Given the description of an element on the screen output the (x, y) to click on. 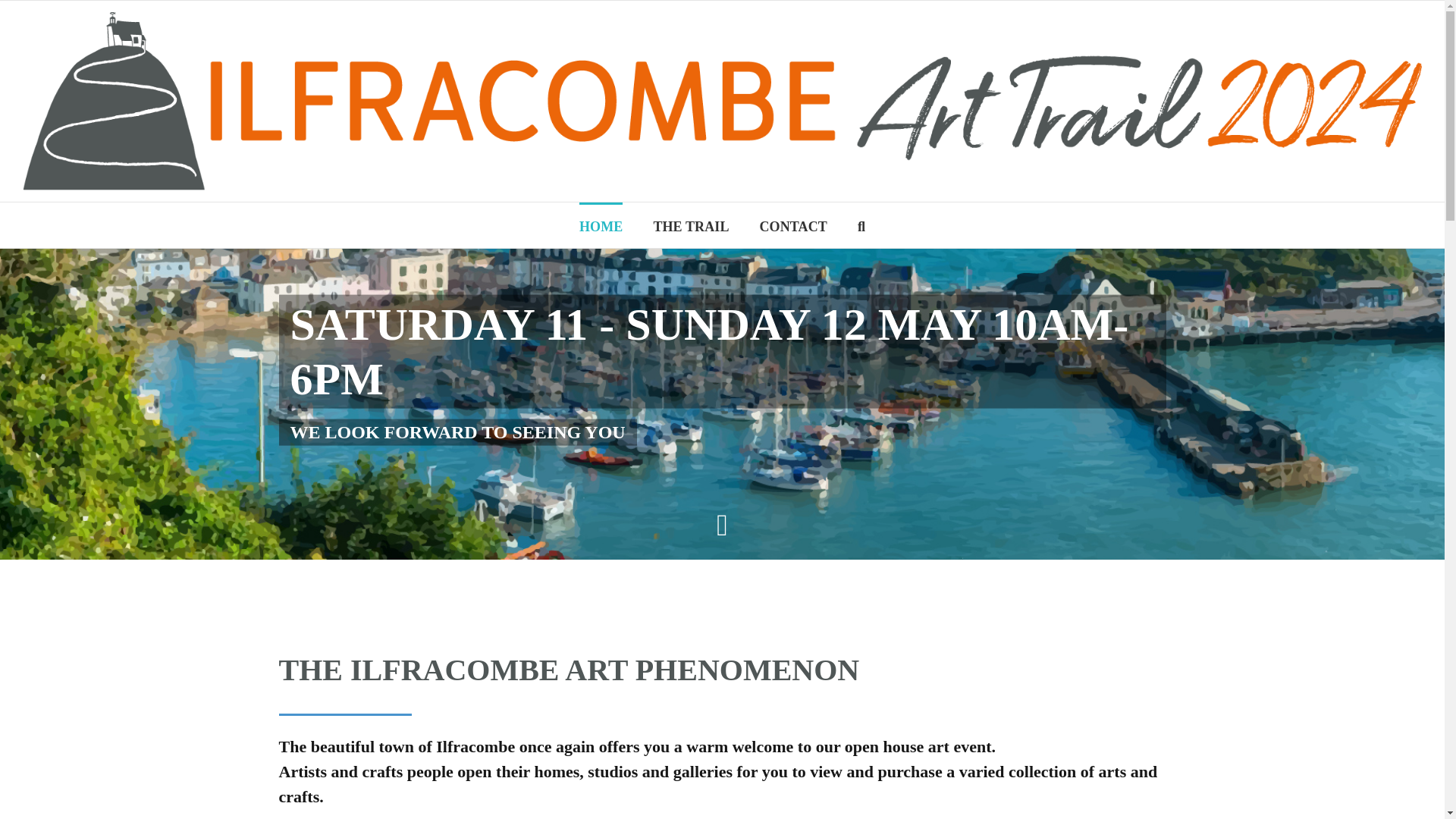
CONTACT (793, 225)
Search (860, 225)
THE TRAIL (690, 225)
HOME (601, 225)
